Given the description of an element on the screen output the (x, y) to click on. 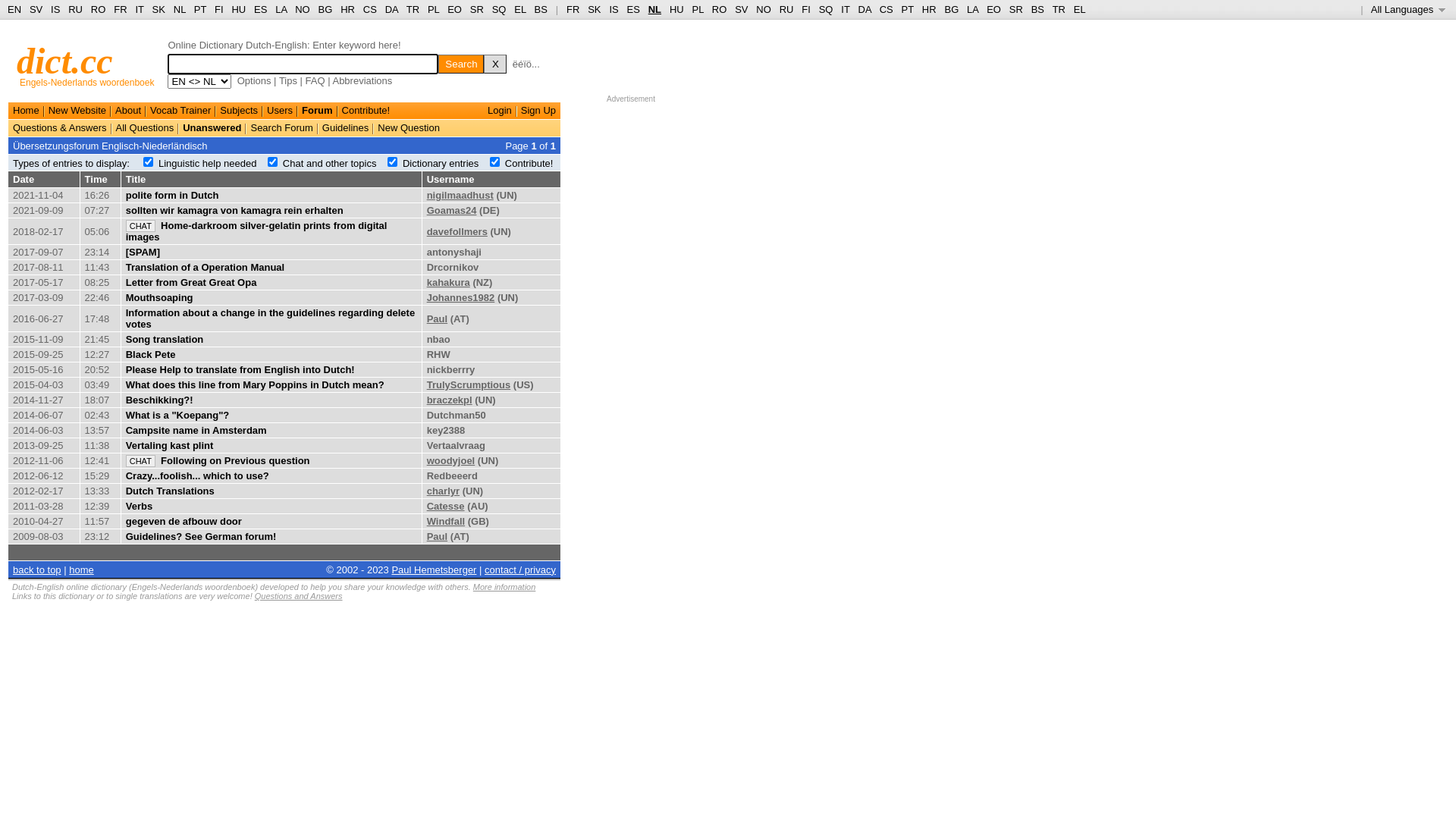
sollten wir kamagra von kamagra rein erhalten Element type: text (234, 210)
TrulyScrumptious Element type: text (468, 384)
gegeven de afbouw door Element type: text (183, 521)
Paul Element type: text (436, 536)
FAQ Element type: text (315, 80)
FI Element type: text (218, 9)
LA Element type: text (972, 9)
Abbreviations Element type: text (362, 80)
Search Forum Element type: text (281, 127)
woodyjoel Element type: text (450, 460)
RU Element type: text (786, 9)
Questions & Answers Element type: text (59, 127)
EO Element type: text (454, 9)
BS Element type: text (540, 9)
on Element type: text (494, 161)
Campsite name in Amsterdam Element type: text (195, 430)
Search Element type: text (460, 63)
PT Element type: text (907, 9)
Translation of a Operation Manual Element type: text (204, 267)
IS Element type: text (613, 9)
CS Element type: text (886, 9)
contact / privacy Element type: text (519, 569)
Contribute! Element type: text (366, 110)
Vocab Trainer Element type: text (180, 110)
RO Element type: text (98, 9)
Mouthsoaping Element type: text (159, 297)
Verbs Element type: text (138, 505)
HR Element type: text (929, 9)
CS Element type: text (369, 9)
All Languages  Element type: text (1408, 9)
IT Element type: text (138, 9)
HR Element type: text (347, 9)
What is a "Koepang"? Element type: text (177, 414)
Chat and other topics Element type: text (329, 163)
on Element type: text (148, 161)
EO Element type: text (993, 9)
[SPAM] Element type: text (142, 251)
TR Element type: text (412, 9)
nigilmaadhust Element type: text (459, 194)
Contribute! Element type: text (529, 163)
NL Element type: text (179, 9)
FI Element type: text (805, 9)
back to top Element type: text (36, 569)
Black Pete Element type: text (150, 354)
Home Element type: text (25, 110)
CHAT  Following on Previous question Element type: text (217, 460)
Questions and Answers Element type: text (298, 595)
Song translation Element type: text (164, 339)
polite form in Dutch Element type: text (172, 194)
EN Element type: text (14, 9)
FR Element type: text (572, 9)
New Website Element type: text (77, 110)
SK Element type: text (593, 9)
Guidelines? See German forum! Element type: text (200, 536)
Guidelines Element type: text (345, 127)
Johannes1982 Element type: text (460, 297)
PL Element type: text (433, 9)
Tips Element type: text (288, 80)
SV Element type: text (740, 9)
BS Element type: text (1037, 9)
BG Element type: text (951, 9)
About Element type: text (128, 110)
NO Element type: text (302, 9)
More information Element type: text (504, 586)
All Questions Element type: text (145, 127)
EL Element type: text (519, 9)
on Element type: text (392, 161)
Options Element type: text (254, 80)
Paul Hemetsberger Element type: text (433, 569)
Beschikking?! Element type: text (159, 399)
davefollmers Element type: text (456, 231)
EL Element type: text (1079, 9)
kahakura Element type: text (448, 282)
Forum Element type: text (316, 110)
Catesse Element type: text (445, 505)
DA Element type: text (864, 9)
HU Element type: text (676, 9)
BG Element type: text (325, 9)
home Element type: text (81, 569)
LA Element type: text (280, 9)
Users Element type: text (279, 110)
dict.cc Element type: text (64, 60)
What does this line from Mary Poppins in Dutch mean? Element type: text (254, 384)
PT Element type: text (200, 9)
Paul Element type: text (436, 317)
New Question Element type: text (408, 127)
Unanswered Element type: text (211, 127)
Crazy...foolish... which to use? Element type: text (197, 475)
SQ Element type: text (826, 9)
Vertaling kast plint Element type: text (169, 445)
Dictionary entries Element type: text (440, 163)
IS Element type: text (54, 9)
SR Element type: text (1015, 9)
Subjects Element type: text (238, 110)
on Element type: text (272, 161)
X Element type: text (494, 63)
Linguistic help needed Element type: text (207, 163)
Letter from Great Great Opa Element type: text (191, 282)
SR Element type: text (476, 9)
IT Element type: text (844, 9)
TR Element type: text (1058, 9)
SK Element type: text (158, 9)
ES Element type: text (633, 9)
SV Element type: text (35, 9)
NO Element type: text (763, 9)
Windfall Element type: text (445, 521)
charlyr Element type: text (442, 490)
NL Element type: text (654, 9)
RU Element type: text (75, 9)
Sign Up Element type: text (537, 110)
braczekpl Element type: text (449, 399)
Dutch Translations Element type: text (169, 490)
ES Element type: text (260, 9)
HU Element type: text (238, 9)
Login Element type: text (499, 110)
RO Element type: text (719, 9)
PL Element type: text (697, 9)
FR Element type: text (119, 9)
DA Element type: text (391, 9)
Goamas24 Element type: text (451, 210)
SQ Element type: text (499, 9)
